Given the description of an element on the screen output the (x, y) to click on. 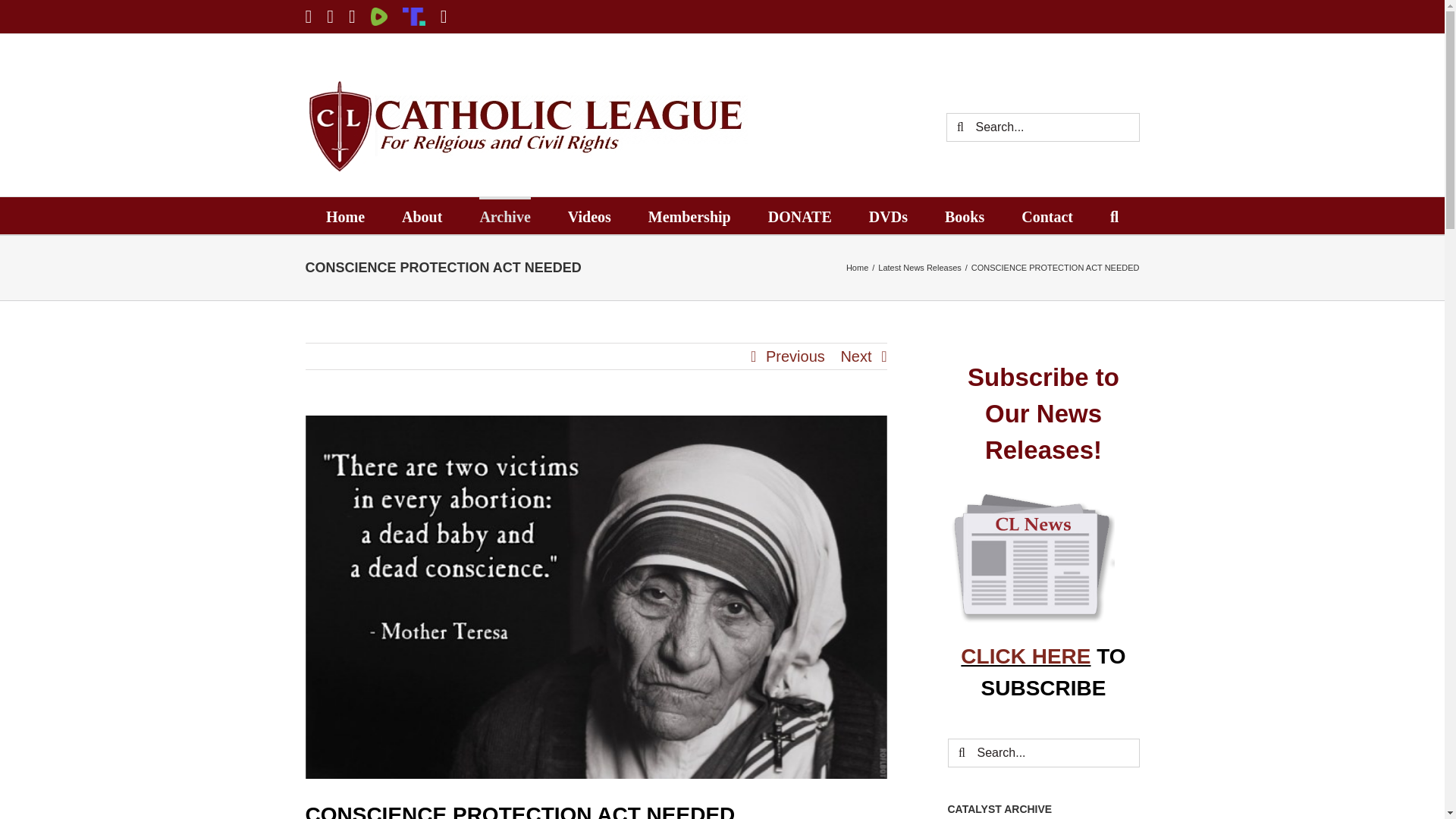
Videos (589, 215)
About (421, 215)
Contact (1047, 215)
Home (345, 215)
Membership (688, 215)
Archive (504, 215)
DVDs (888, 215)
Books (964, 215)
Truth Social (414, 16)
DONATE (799, 215)
Rumble (379, 16)
